Given the description of an element on the screen output the (x, y) to click on. 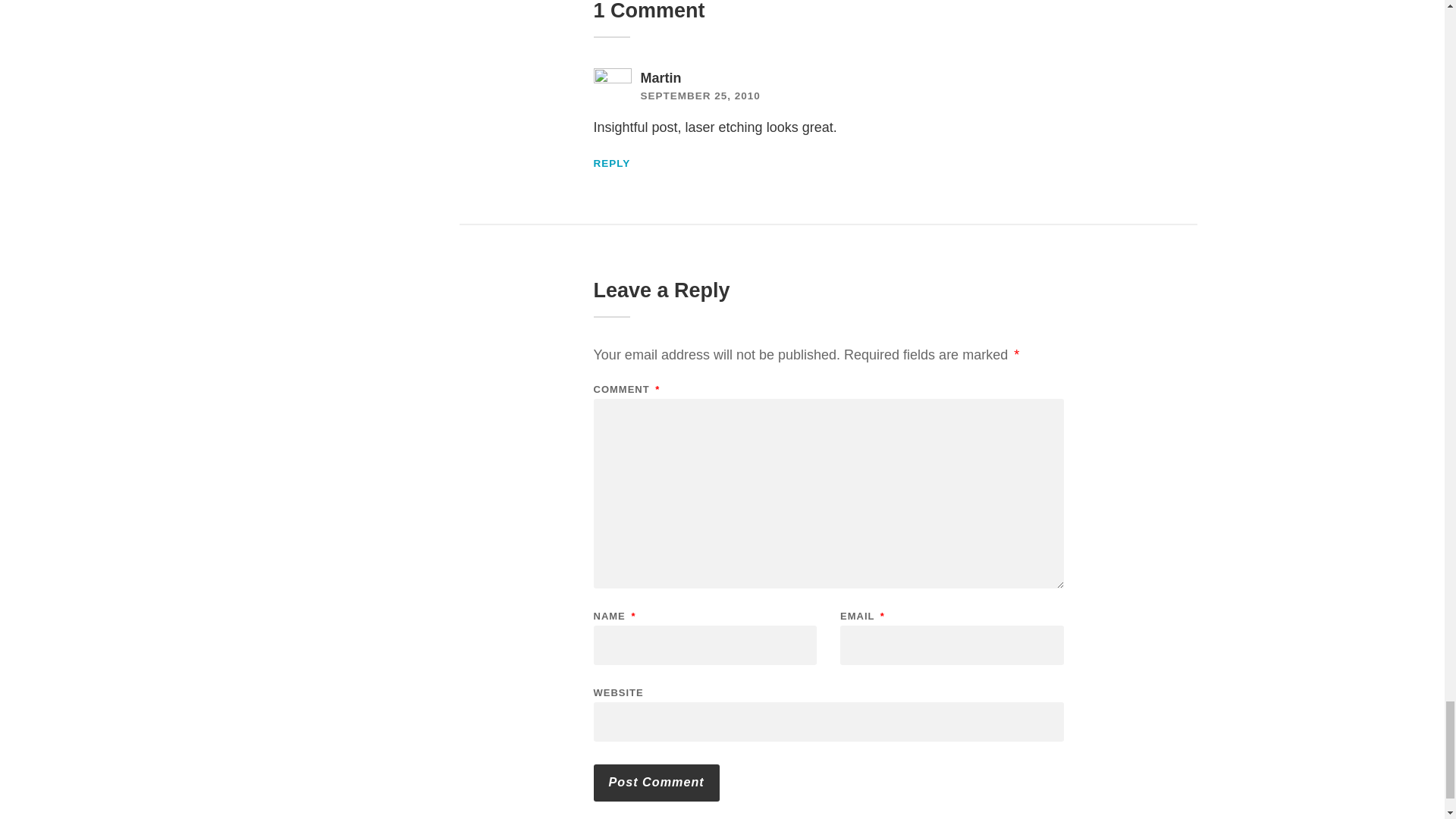
Post Comment (655, 782)
